Given the description of an element on the screen output the (x, y) to click on. 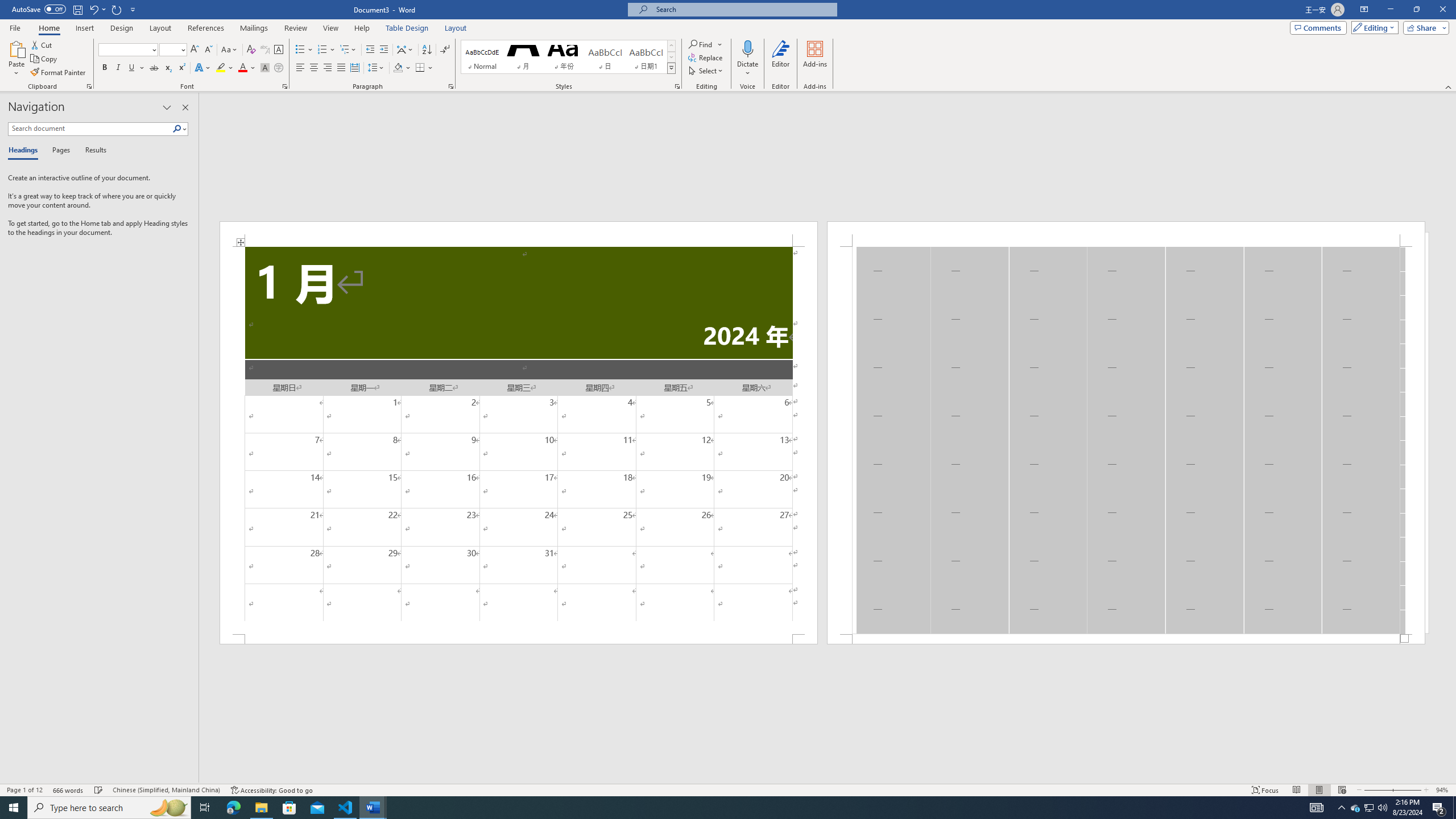
Bold (104, 67)
Increase Indent (383, 49)
Paragraph... (450, 85)
Dictate (747, 58)
Search document (89, 128)
Enclose Characters... (278, 67)
Page 1 content (518, 439)
Results (91, 150)
Web Layout (1342, 790)
Mailings (253, 28)
Class: NetUIImage (671, 68)
Copy (45, 58)
Underline (136, 67)
Align Left (300, 67)
